Given the description of an element on the screen output the (x, y) to click on. 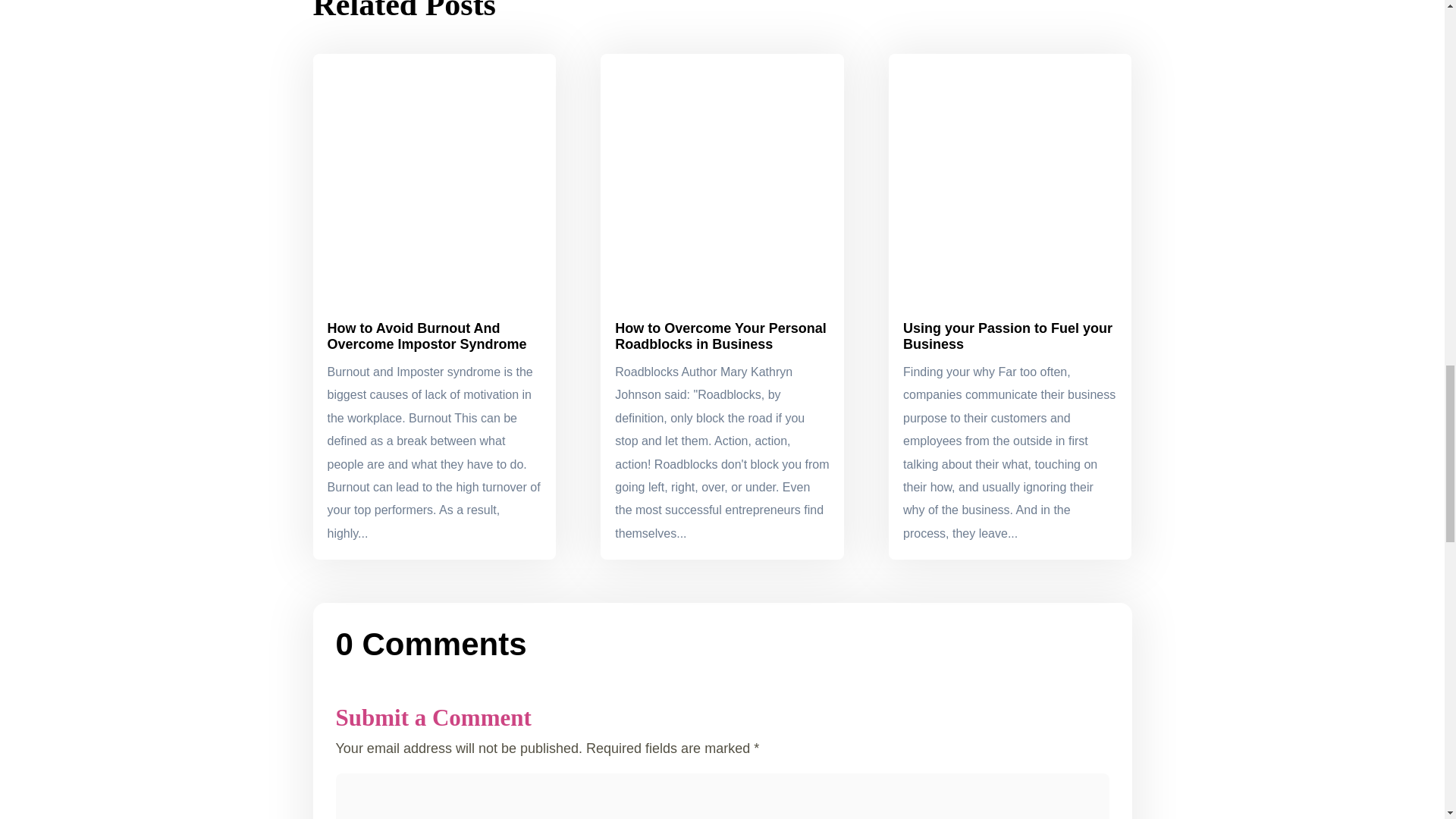
Using your Passion to Fuel your Business (1007, 336)
How to Avoid Burnout And Overcome Impostor Syndrome (427, 336)
How to Overcome Your Personal Roadblocks in Business (719, 336)
